Given the description of an element on the screen output the (x, y) to click on. 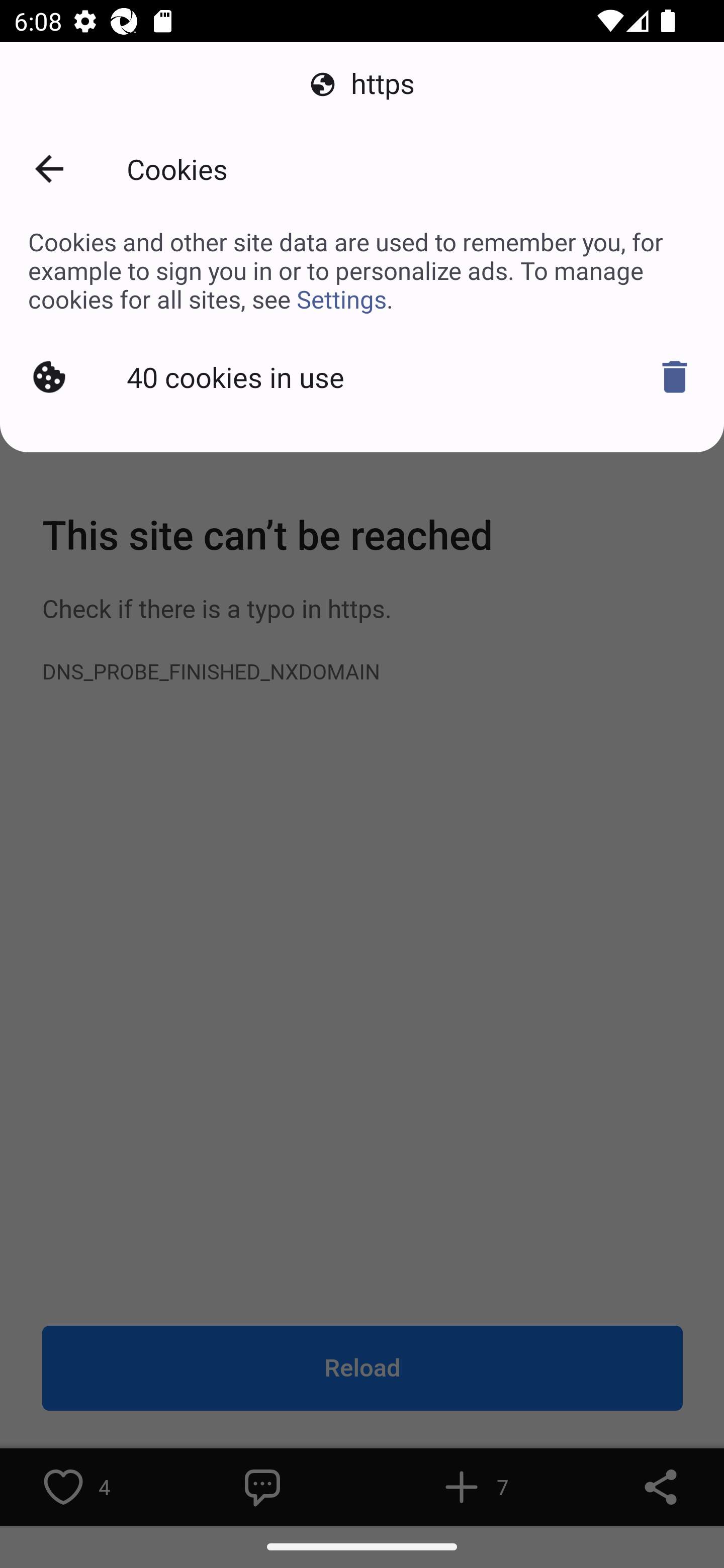
https (362, 84)
Back (49, 169)
40 cookies in use Clear cookies? (362, 376)
